Given the description of an element on the screen output the (x, y) to click on. 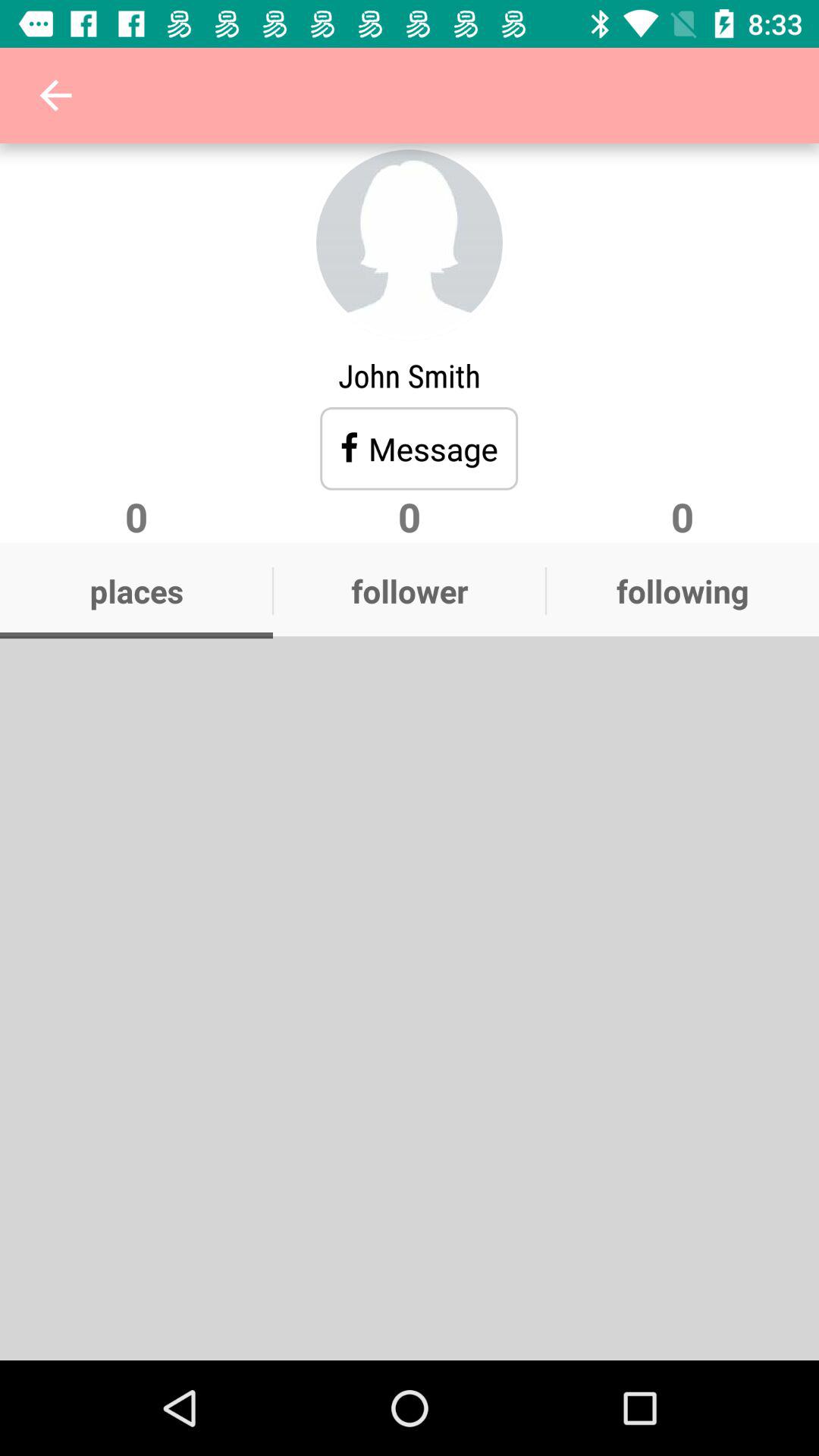
open item next to the follower (682, 590)
